Given the description of an element on the screen output the (x, y) to click on. 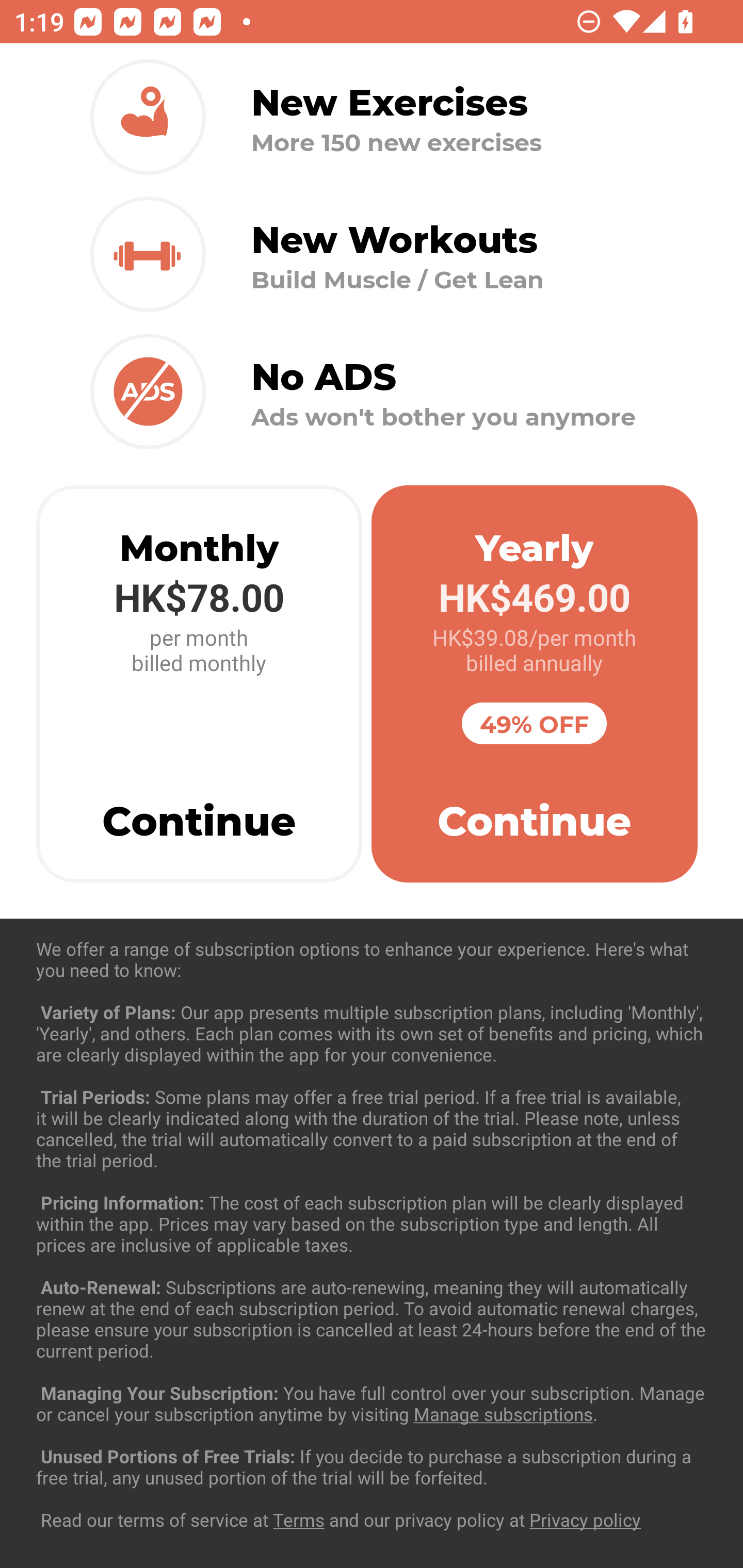
Monthly HK$78.00 per month
billed monthly Continue (199, 684)
Exercise Chest 37 exercises (371, 1033)
Exercise Forearms 4 exercises (371, 1232)
Exercise Legs 36 exercises (371, 1430)
